Given the description of an element on the screen output the (x, y) to click on. 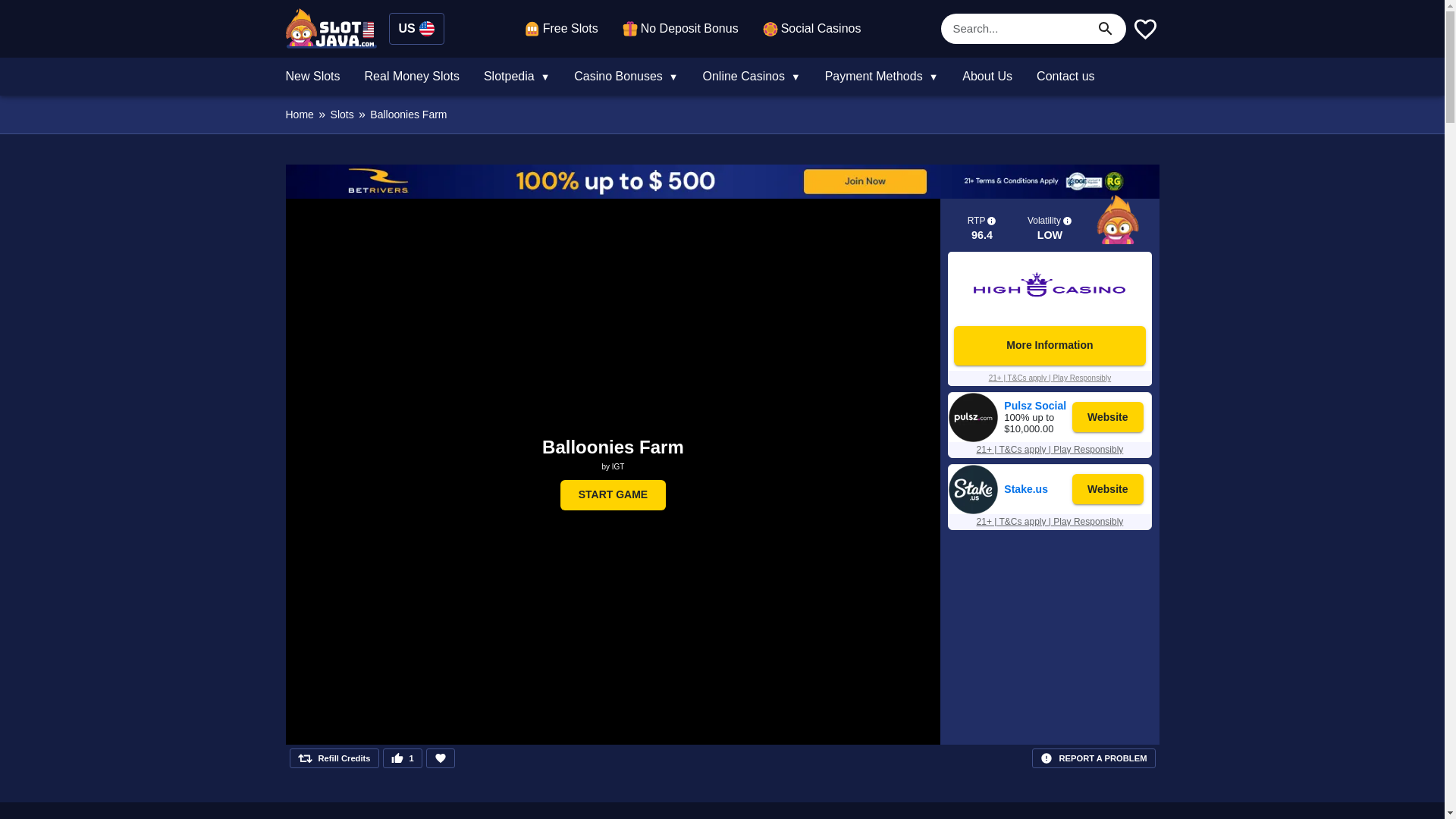
New Slots (312, 76)
Slotjava.com (330, 28)
Social Casinos (811, 28)
No Deposit Bonus (680, 28)
About Us (987, 76)
US (416, 29)
Contact us (1065, 76)
Stake.us logo (973, 509)
Pulsz Social logo (973, 437)
Free Slots (561, 28)
Real Money Slots (411, 76)
